Given the description of an element on the screen output the (x, y) to click on. 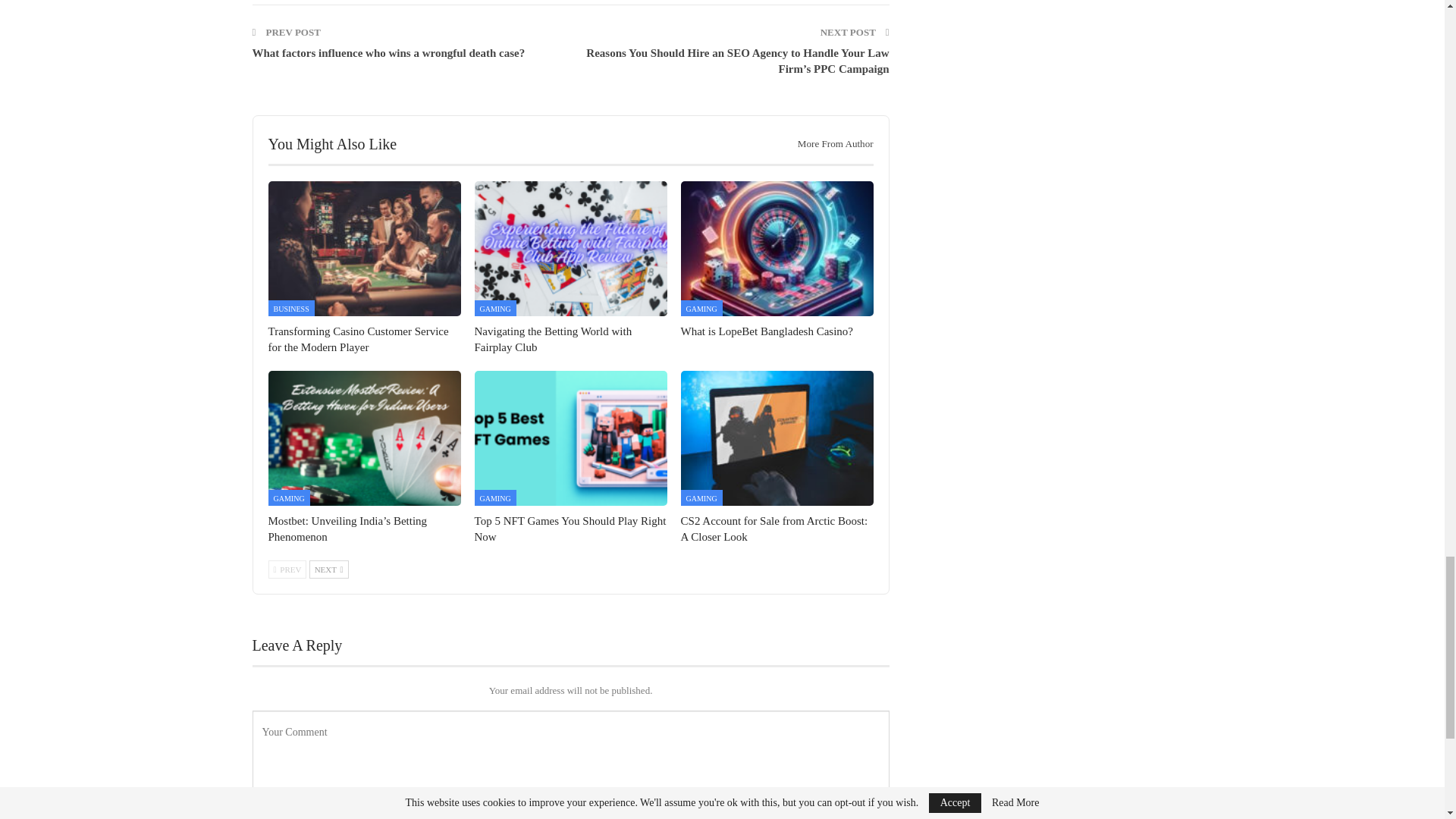
What is LopeBet Bangladesh Casino? (777, 248)
What is LopeBet Bangladesh Casino? (767, 331)
Transforming Casino Customer Service for the Modern Player (364, 248)
Navigating the Betting World with Fairplay Club (552, 338)
Top 5 NFT Games You Should Play Right Now (570, 438)
Navigating the Betting World with Fairplay Club (570, 248)
Transforming Casino Customer Service for the Modern Player (357, 338)
